Given the description of an element on the screen output the (x, y) to click on. 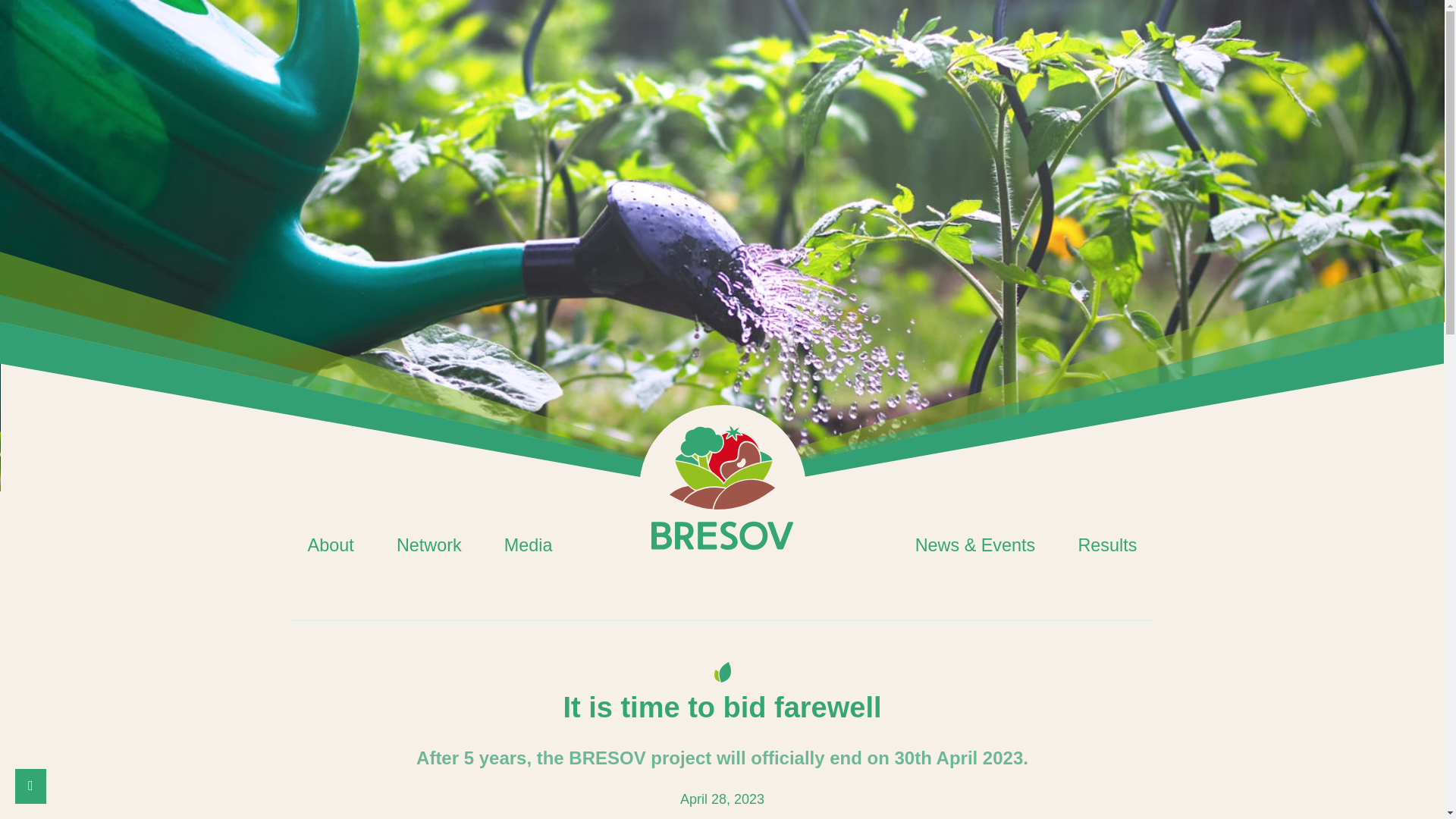
Home (722, 487)
Results (1107, 544)
About (330, 544)
Network (429, 544)
Media (528, 544)
